Given the description of an element on the screen output the (x, y) to click on. 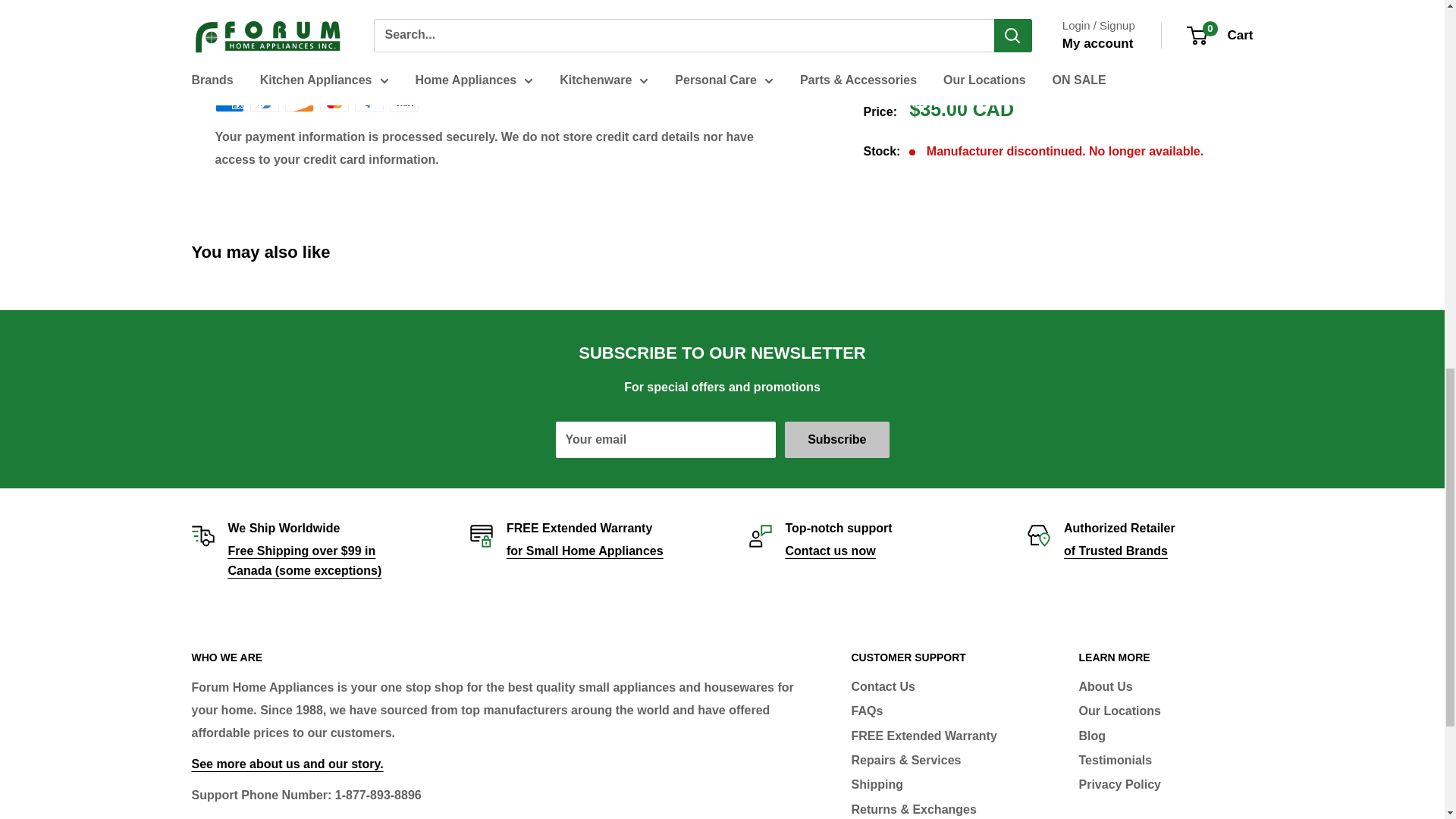
About Us (286, 763)
Contact Us (831, 550)
Shipping Info (304, 560)
FREE Extended Warranty (584, 550)
Top Brands (1115, 550)
